Given the description of an element on the screen output the (x, y) to click on. 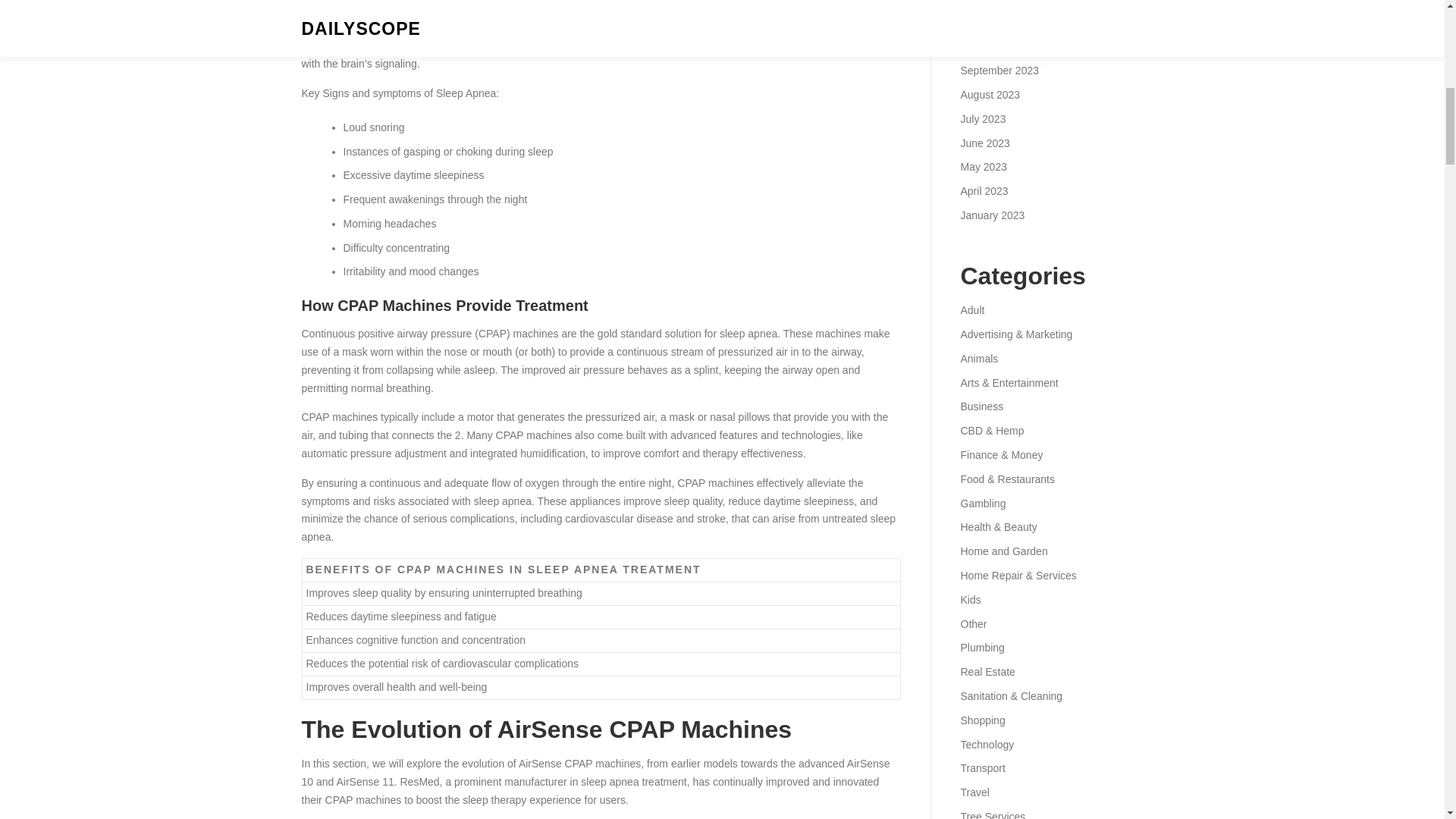
Business (981, 406)
May 2023 (982, 166)
April 2023 (983, 191)
Animals (978, 358)
June 2023 (984, 143)
January 2023 (992, 215)
September 2023 (999, 70)
August 2023 (989, 94)
December 2023 (997, 2)
November 2023 (997, 22)
